Given the description of an element on the screen output the (x, y) to click on. 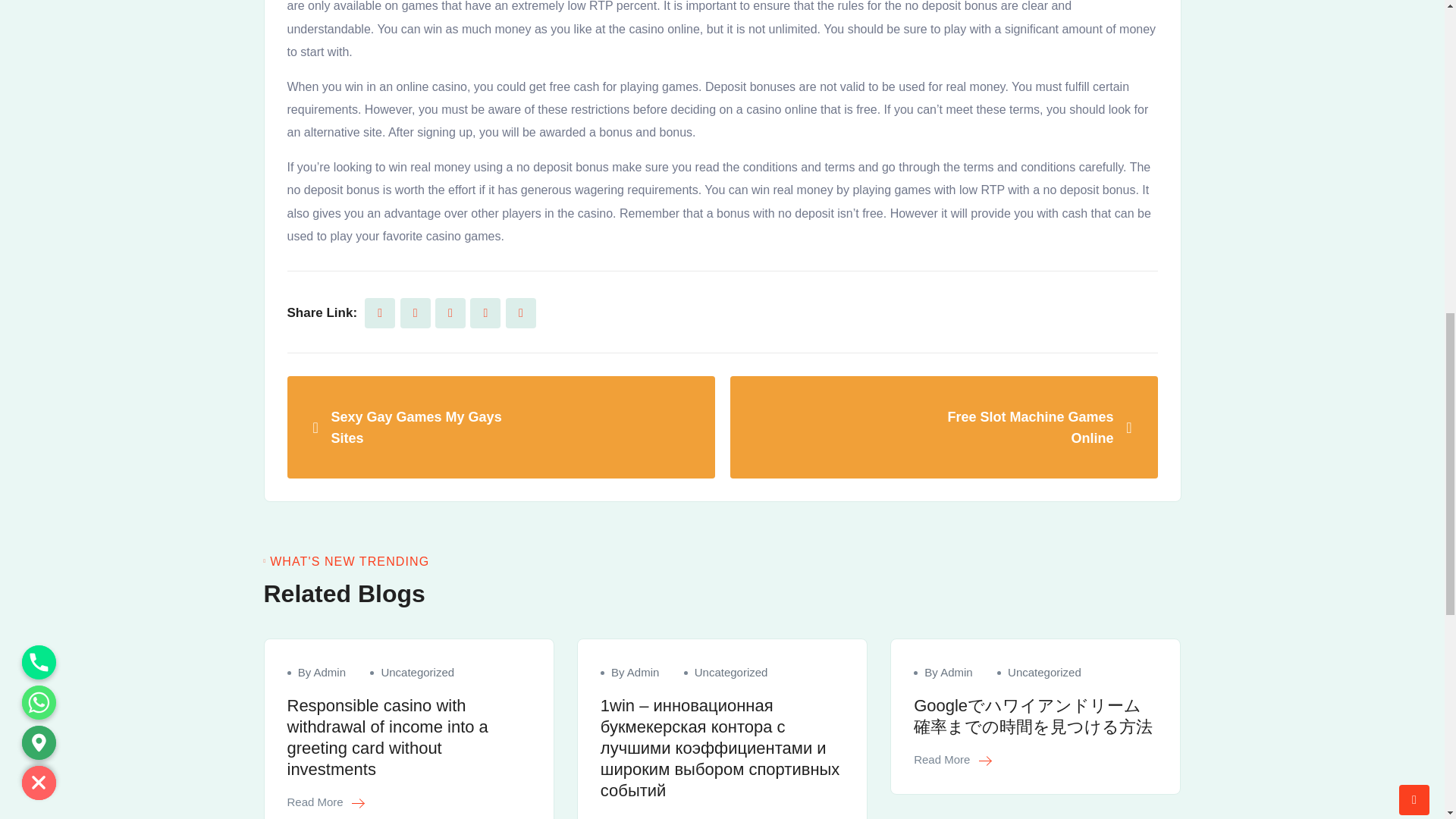
Free Slot Machine Games Online (943, 426)
Uncategorized (417, 672)
Sexy Gay Games My Gays Sites (500, 426)
By Admin (322, 672)
